Given the description of an element on the screen output the (x, y) to click on. 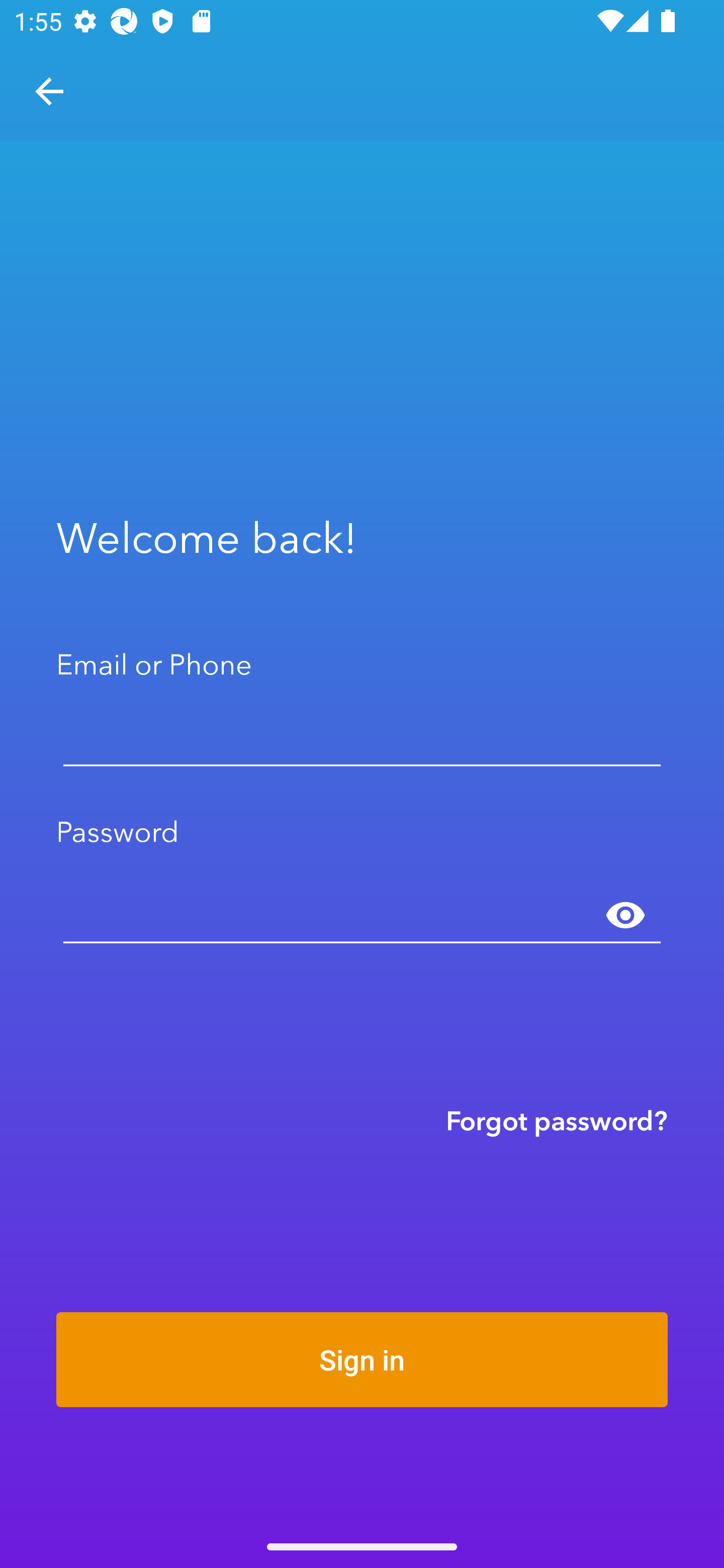
Navigate up (49, 91)
Show password (625, 915)
Forgot password? (556, 1119)
Sign in (361, 1359)
